Given the description of an element on the screen output the (x, y) to click on. 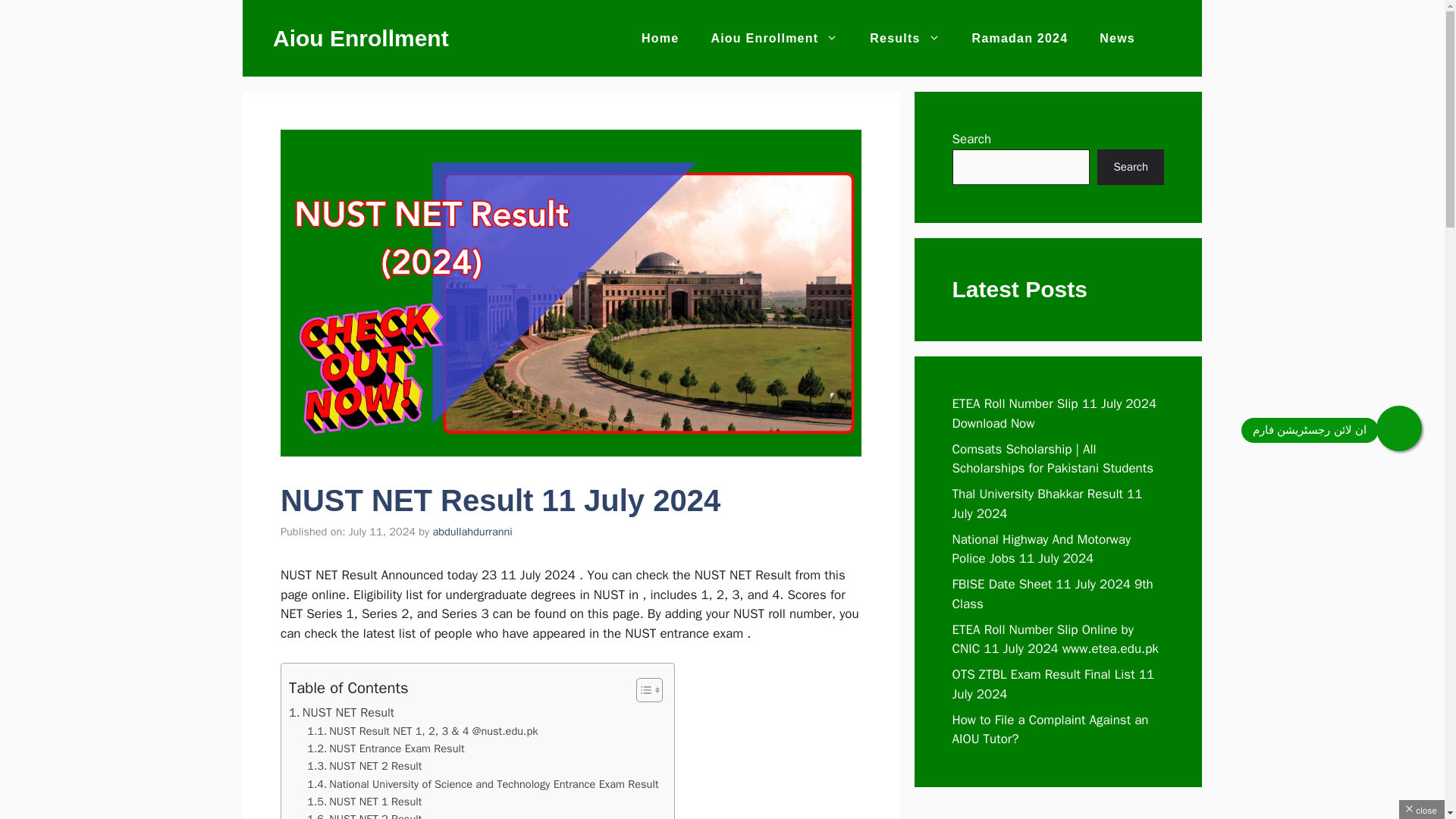
Aiou Enrollment (360, 37)
NUST NET 1 Result   (364, 801)
NUST NET 2 Result (364, 814)
Thal University Bhakkar Result 11 July 2024 (1047, 503)
NUST NET Result (341, 712)
NUST NET 1 Result (364, 801)
NUST NET 2 Result (364, 765)
News (1117, 38)
